Given the description of an element on the screen output the (x, y) to click on. 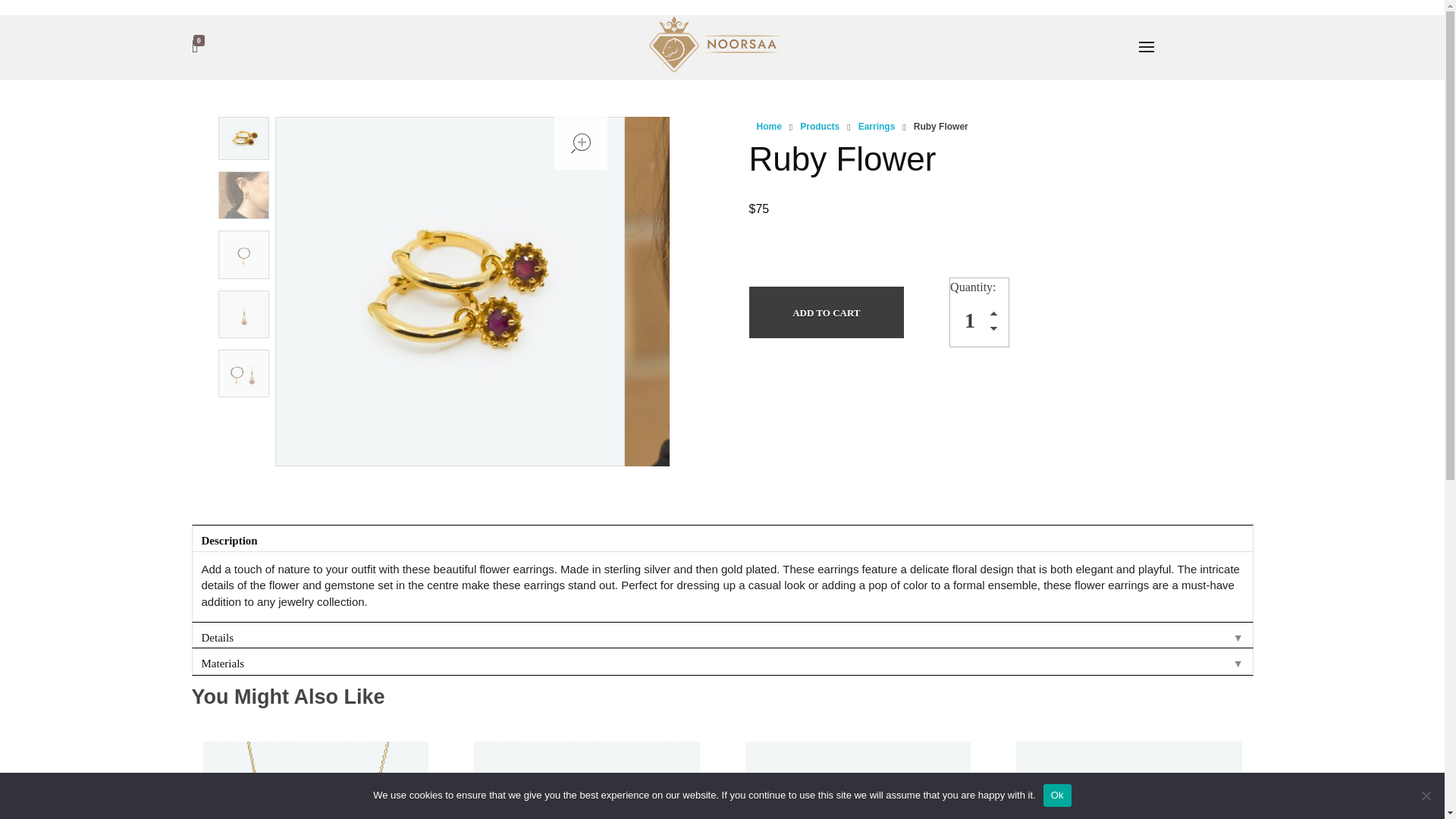
Noorsaa (682, 82)
open (580, 143)
Home (769, 126)
Products (819, 126)
Earrings (877, 126)
Noorsaa (717, 44)
Noorsaa (682, 82)
Earrings (877, 126)
1 (979, 321)
Qty (979, 321)
Home (769, 126)
Products (819, 126)
ADD TO CART (826, 312)
